Given the description of an element on the screen output the (x, y) to click on. 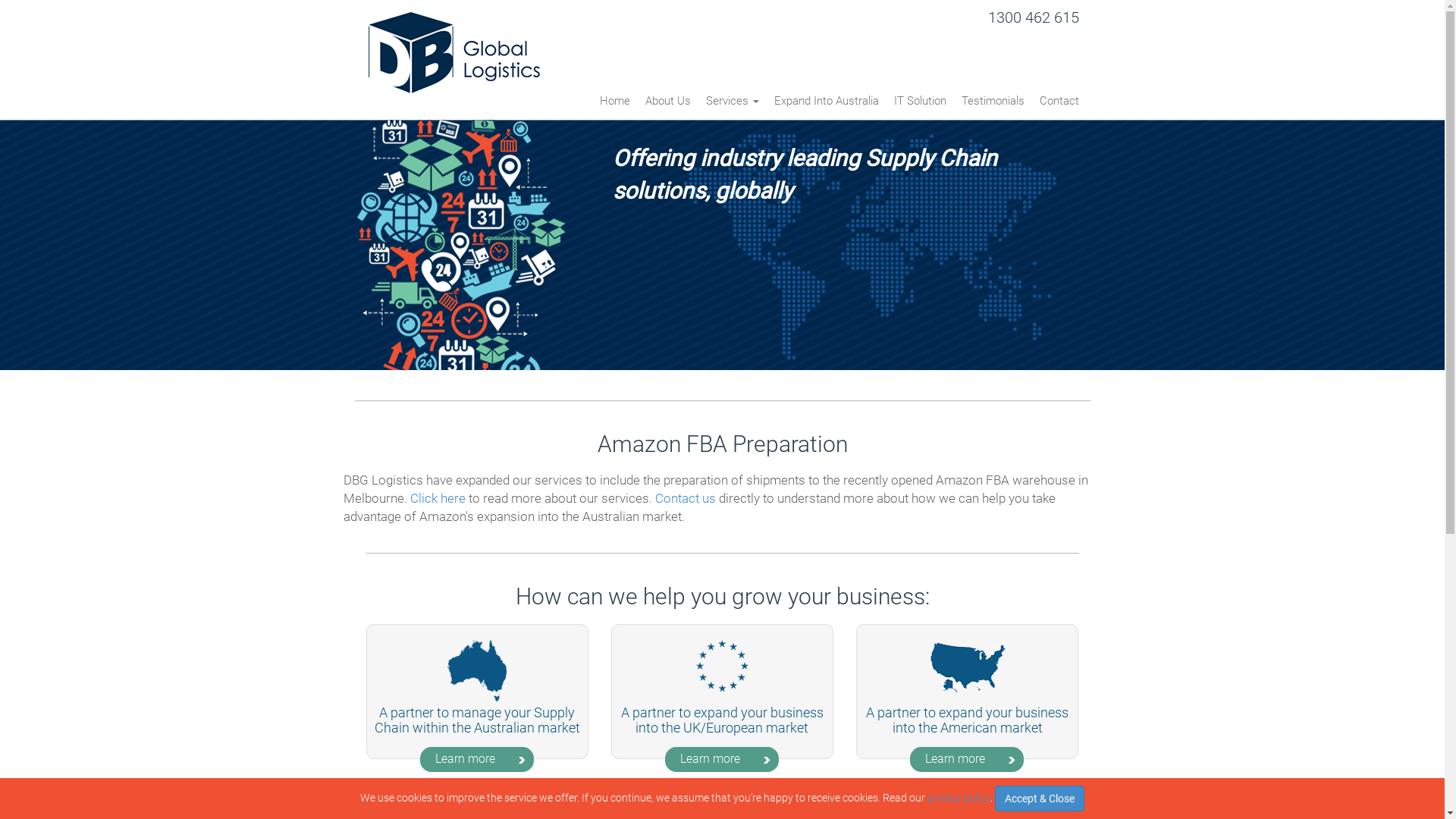
Services Element type: text (731, 106)
Learn more Element type: text (721, 758)
Accept & Close Element type: text (1039, 798)
Click here Element type: text (436, 497)
About Us Element type: text (667, 106)
Learn more Element type: text (476, 758)
Testimonials Element type: text (992, 106)
privacy policy Element type: text (958, 797)
Contact us Element type: text (685, 497)
1300 462 615 Element type: text (1032, 17)
Home Element type: text (614, 106)
IT Solution Element type: text (919, 106)
Contact Element type: text (1054, 106)
Expand Into Australia Element type: text (825, 106)
Learn more Element type: text (966, 758)
